Given the description of an element on the screen output the (x, y) to click on. 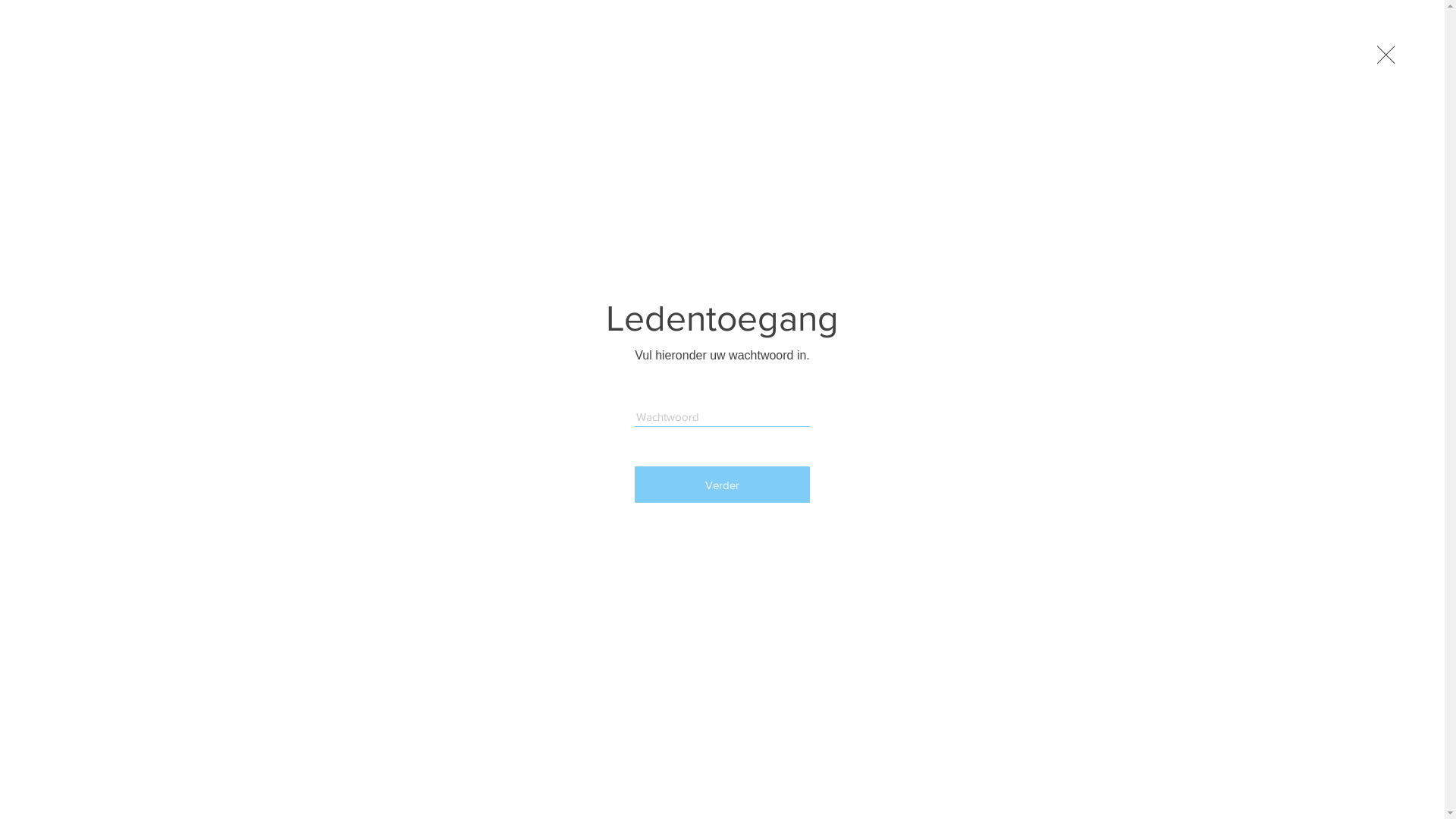
Verder Element type: text (721, 484)
